Given the description of an element on the screen output the (x, y) to click on. 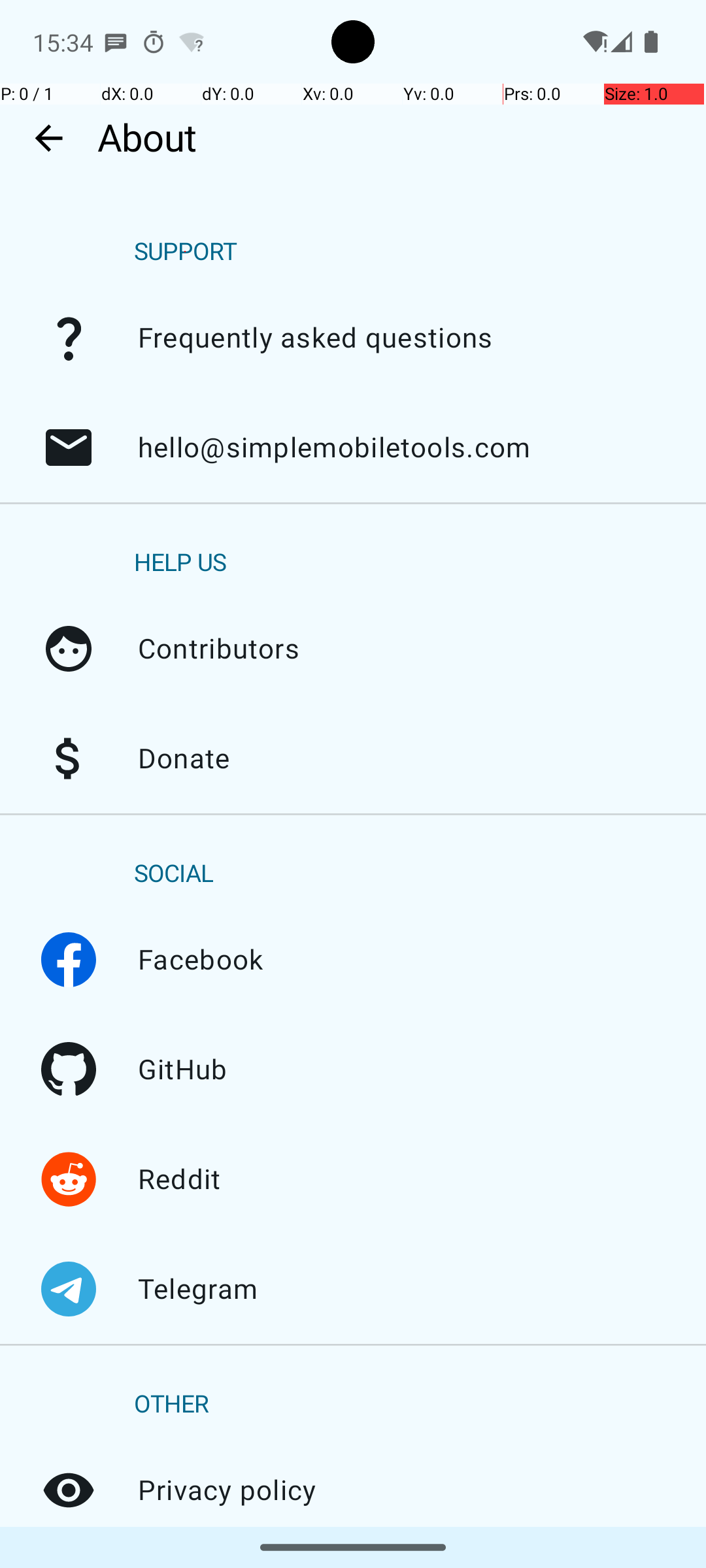
SUPPORT Element type: android.widget.TextView (185, 251)
HELP US Element type: android.widget.TextView (180, 562)
SOCIAL Element type: android.widget.TextView (173, 873)
OTHER Element type: android.widget.TextView (171, 1404)
Frequently asked questions Element type: android.view.View (68, 337)
hello@simplemobiletools.com Element type: android.view.View (68, 447)
Donate Element type: android.view.View (68, 758)
Facebook Element type: android.view.View (68, 959)
GitHub Element type: android.view.View (68, 1069)
Reddit Element type: android.view.View (68, 1178)
Telegram Element type: android.view.View (68, 1288)
Privacy policy Element type: android.view.View (68, 1489)
